Given the description of an element on the screen output the (x, y) to click on. 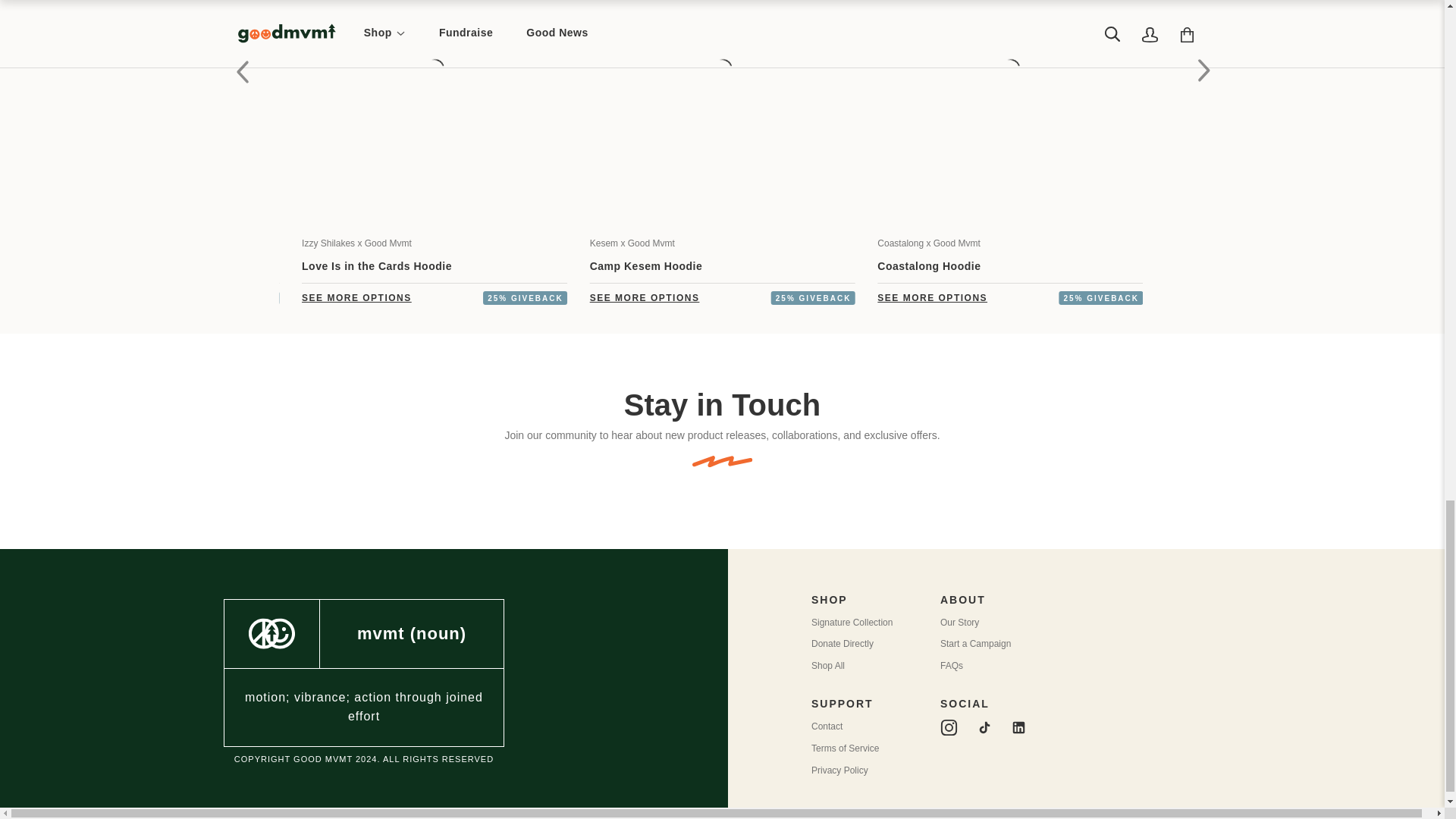
Love Is in the Cards Hoodie (376, 265)
SEE MORE OPTIONS (356, 297)
Coastalong Hoodie (928, 265)
Camp Kesem Hoodie (646, 265)
SEE MORE OPTIONS (644, 297)
